Given the description of an element on the screen output the (x, y) to click on. 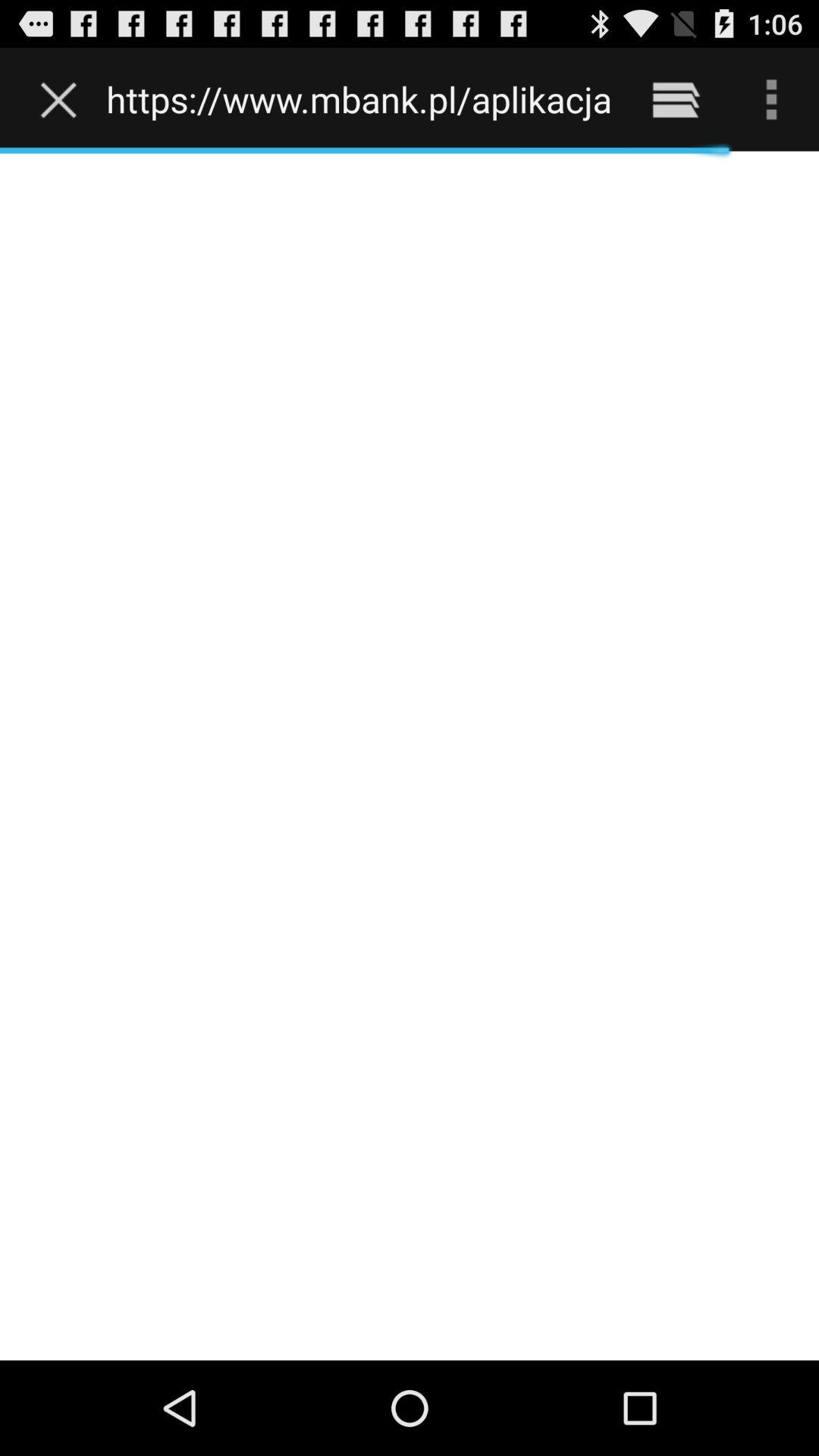
turn off the item at the center (409, 755)
